Given the description of an element on the screen output the (x, y) to click on. 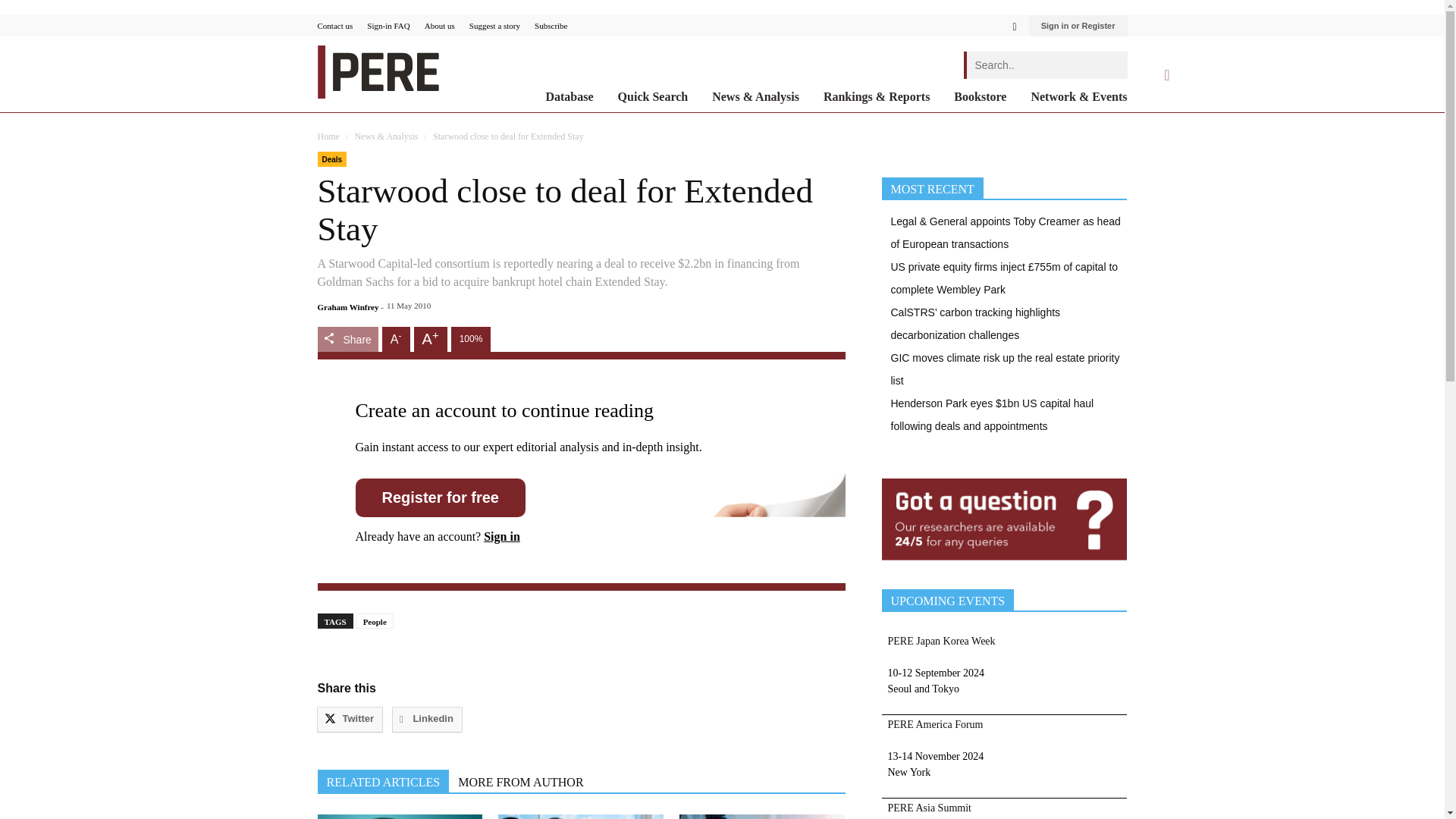
On the minds of residential investing experts (761, 816)
